Given the description of an element on the screen output the (x, y) to click on. 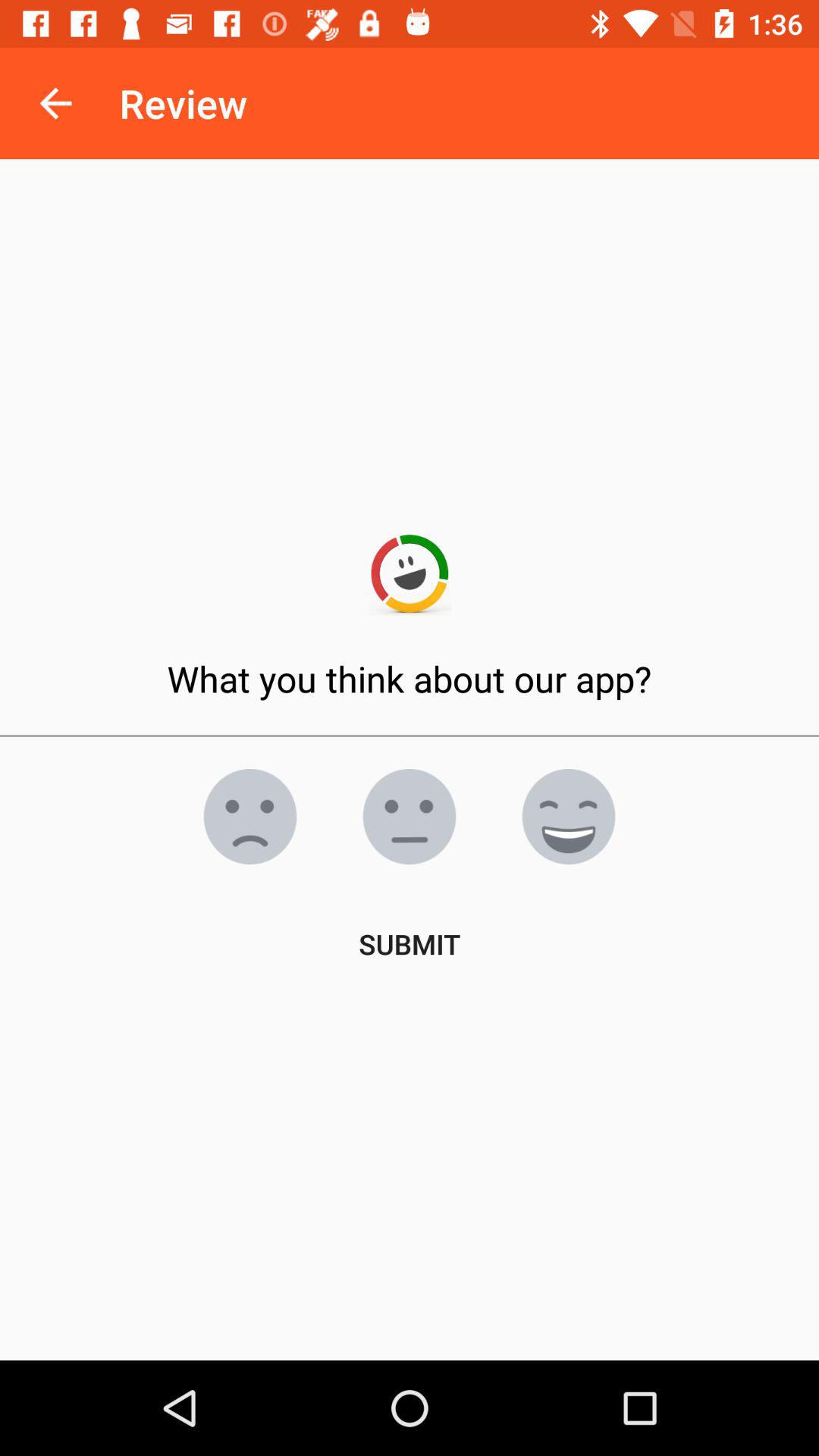
tap the item on the left (249, 816)
